Given the description of an element on the screen output the (x, y) to click on. 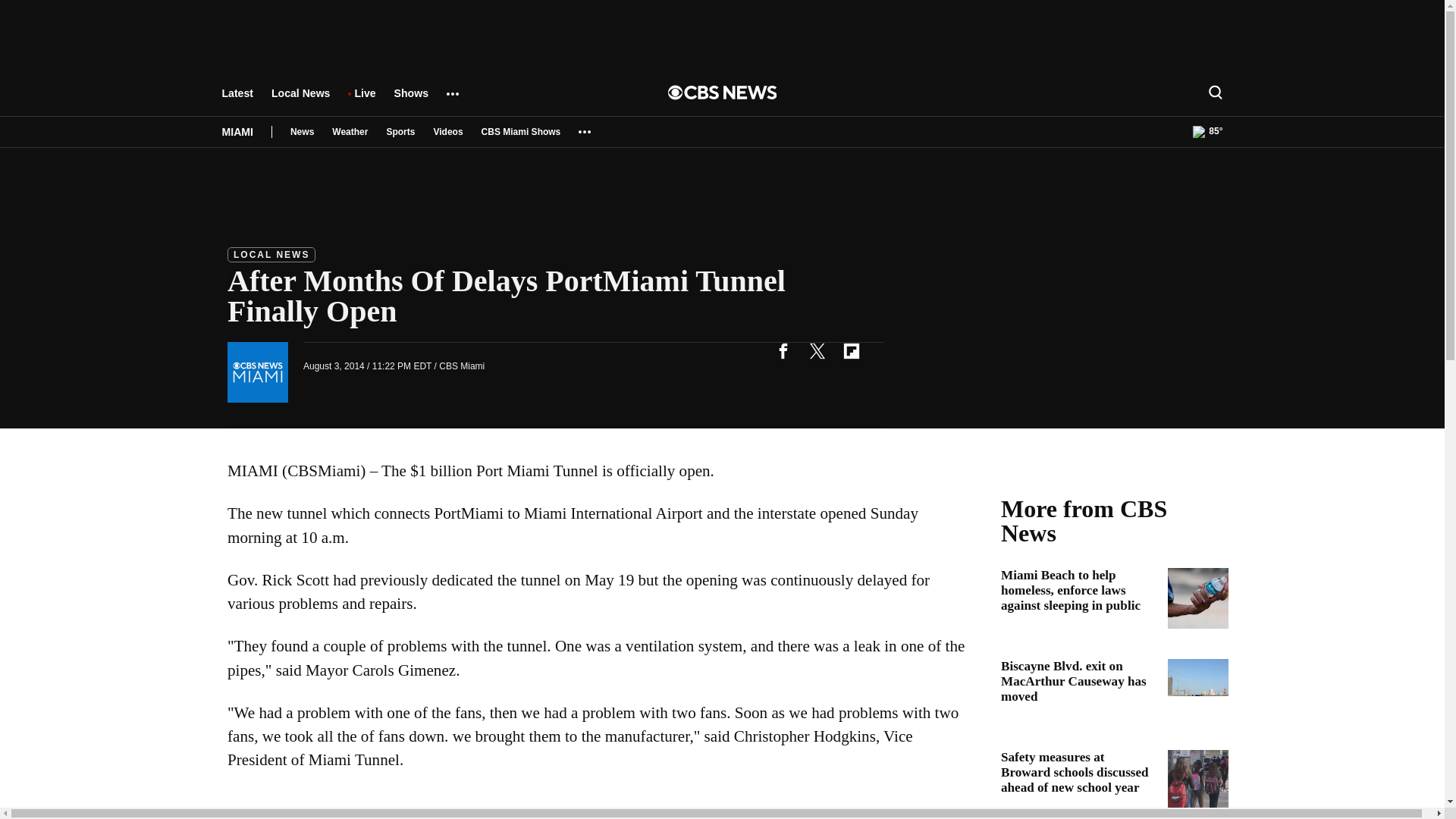
Local News (300, 100)
facebook (782, 350)
twitter (816, 350)
Latest (236, 100)
flipboard (850, 350)
